Given the description of an element on the screen output the (x, y) to click on. 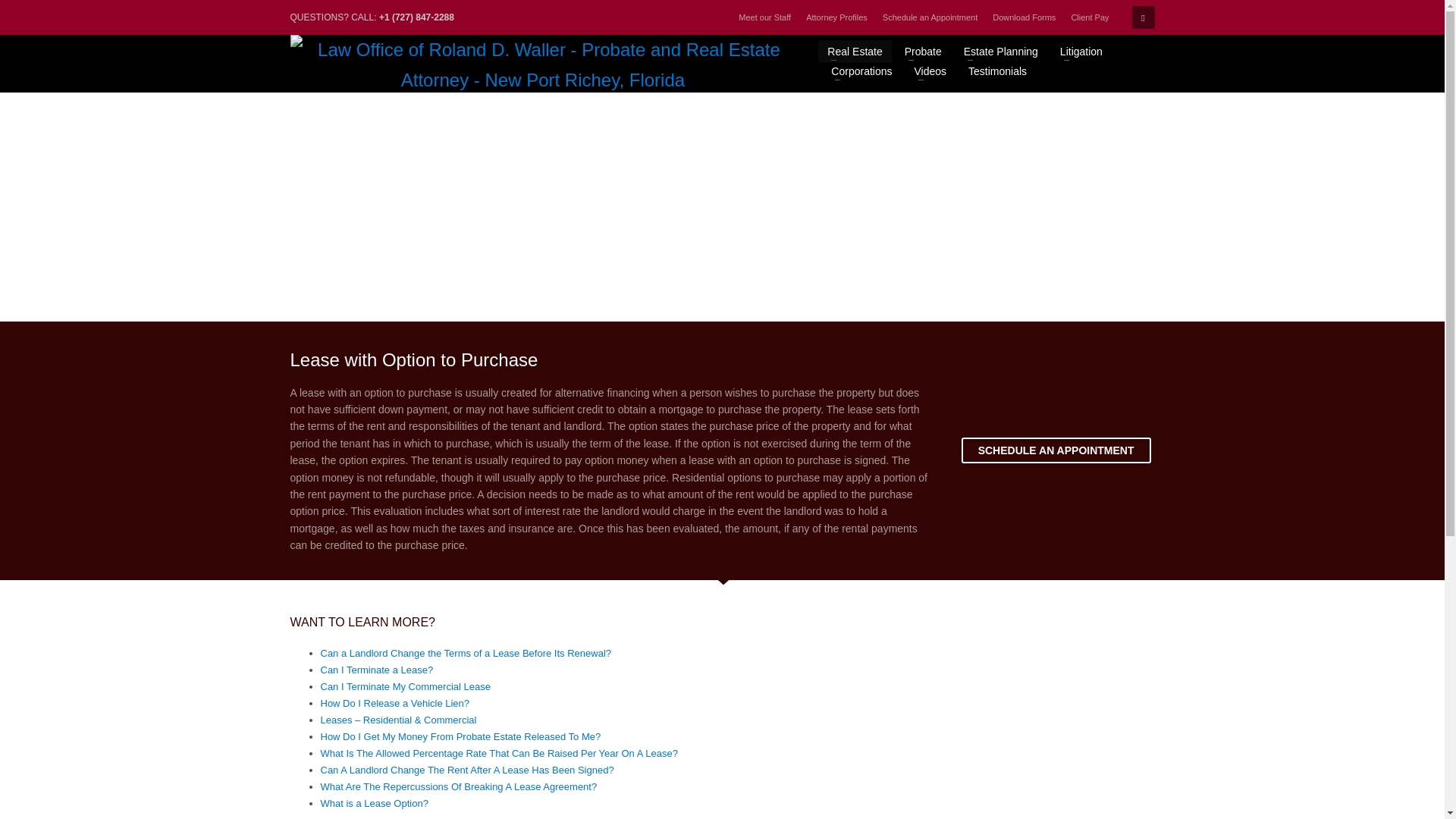
Real Estate (854, 50)
Client Pay (1089, 17)
Can I Terminate a Lease? (376, 669)
Download Forms (1023, 17)
Can I Terminate My Commercial Lease (404, 686)
How Do I Release a Vehicle Lien? (394, 703)
How Do I Get My Money From Probate Estate Released To Me? (459, 736)
Estate Planning (1000, 50)
Attorney Profiles (836, 17)
